Given the description of an element on the screen output the (x, y) to click on. 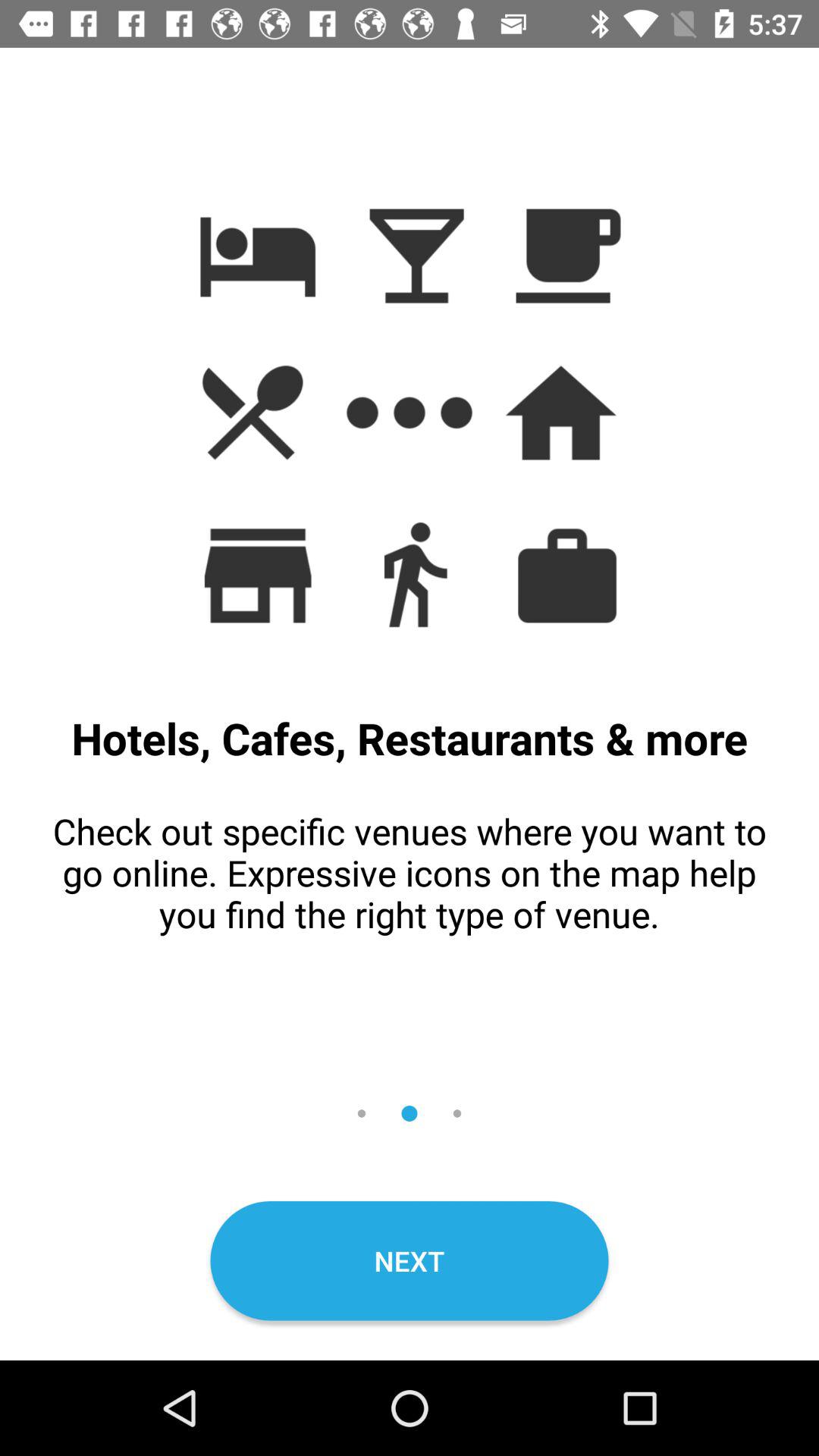
jump to the next item (409, 1260)
